Given the description of an element on the screen output the (x, y) to click on. 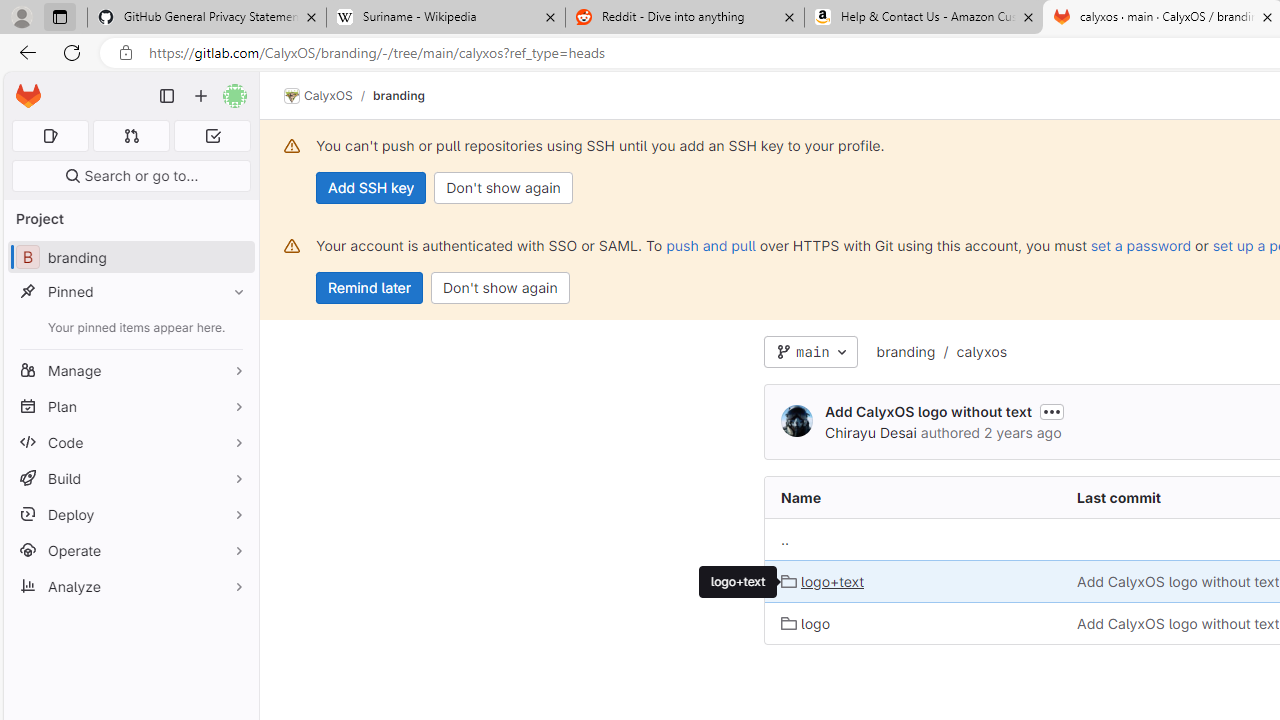
Manage (130, 370)
logo+text (822, 580)
Add SSH key (371, 187)
set a password (1140, 245)
Skip to main content (23, 87)
CalyxOS/ (328, 96)
Build (130, 478)
Build (130, 478)
Name (913, 497)
logo+text (913, 581)
CalyxOS (318, 96)
B branding (130, 257)
Plan (130, 406)
